Given the description of an element on the screen output the (x, y) to click on. 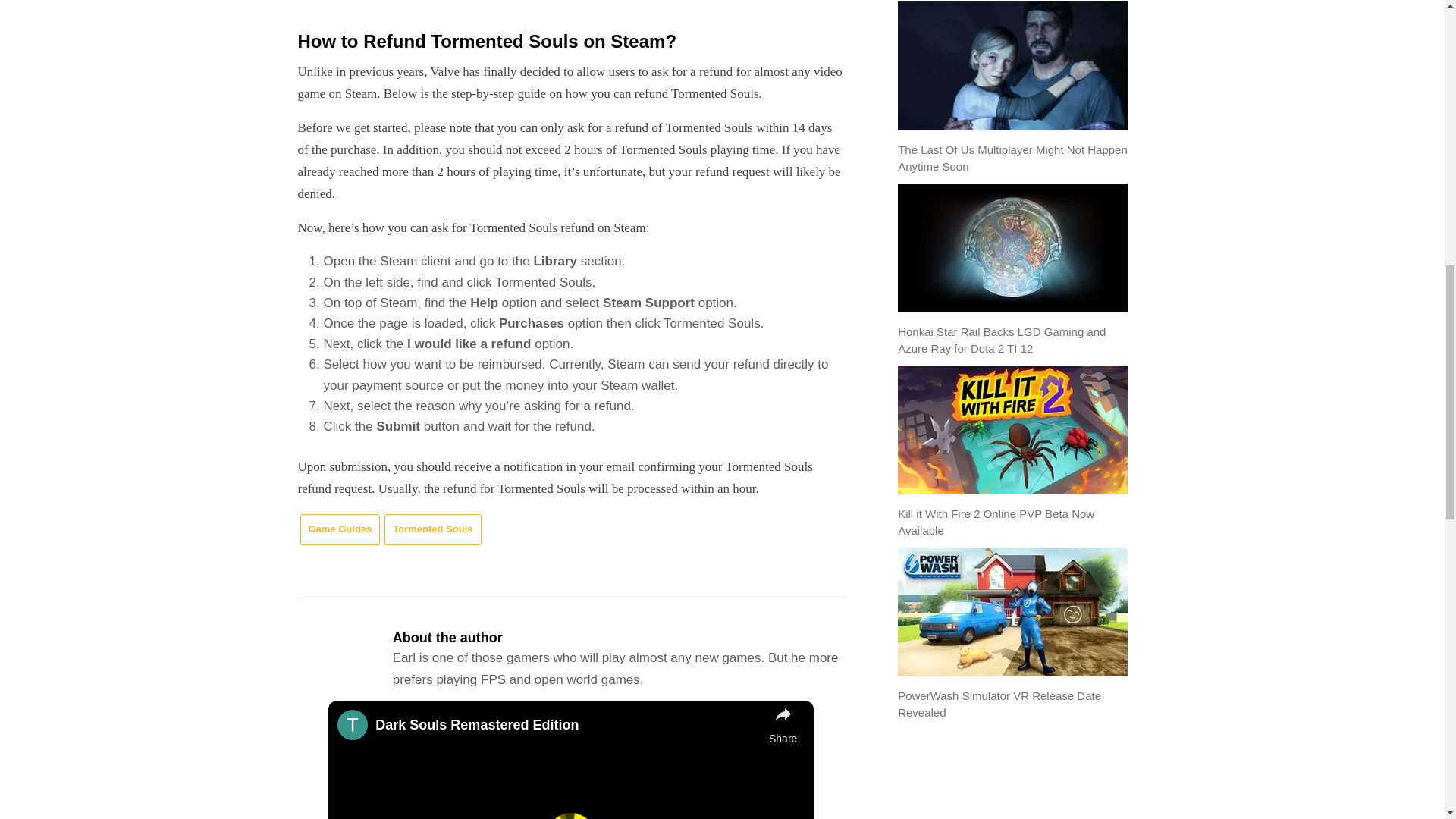
Kill it With Fire 2 Online PVP Beta Now Available (996, 521)
Share (782, 725)
The Last Of Us Multiplayer Might Not Happen Anytime Soon (1012, 158)
Game Guides (339, 529)
Dark Souls Remastered Edition (568, 725)
Tormented Souls (432, 529)
share (782, 725)
